Given the description of an element on the screen output the (x, y) to click on. 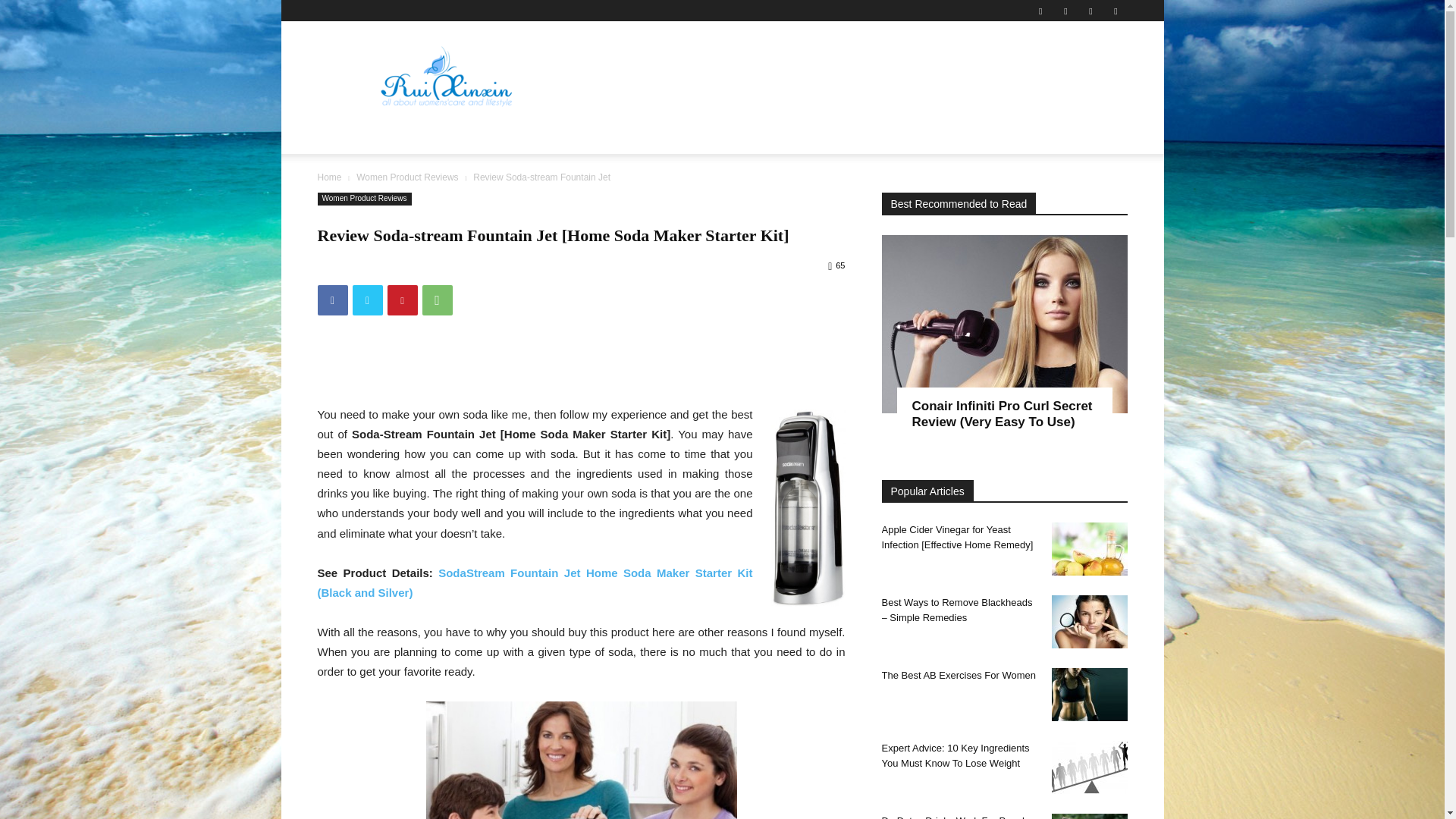
Delicious (1040, 10)
Mix (1090, 10)
HOME (341, 135)
Facebook (1065, 10)
WOMEN HEALTH TIPS (430, 135)
WOMEN LIFESTYLE (557, 135)
Pinterest (1114, 10)
